Given the description of an element on the screen output the (x, y) to click on. 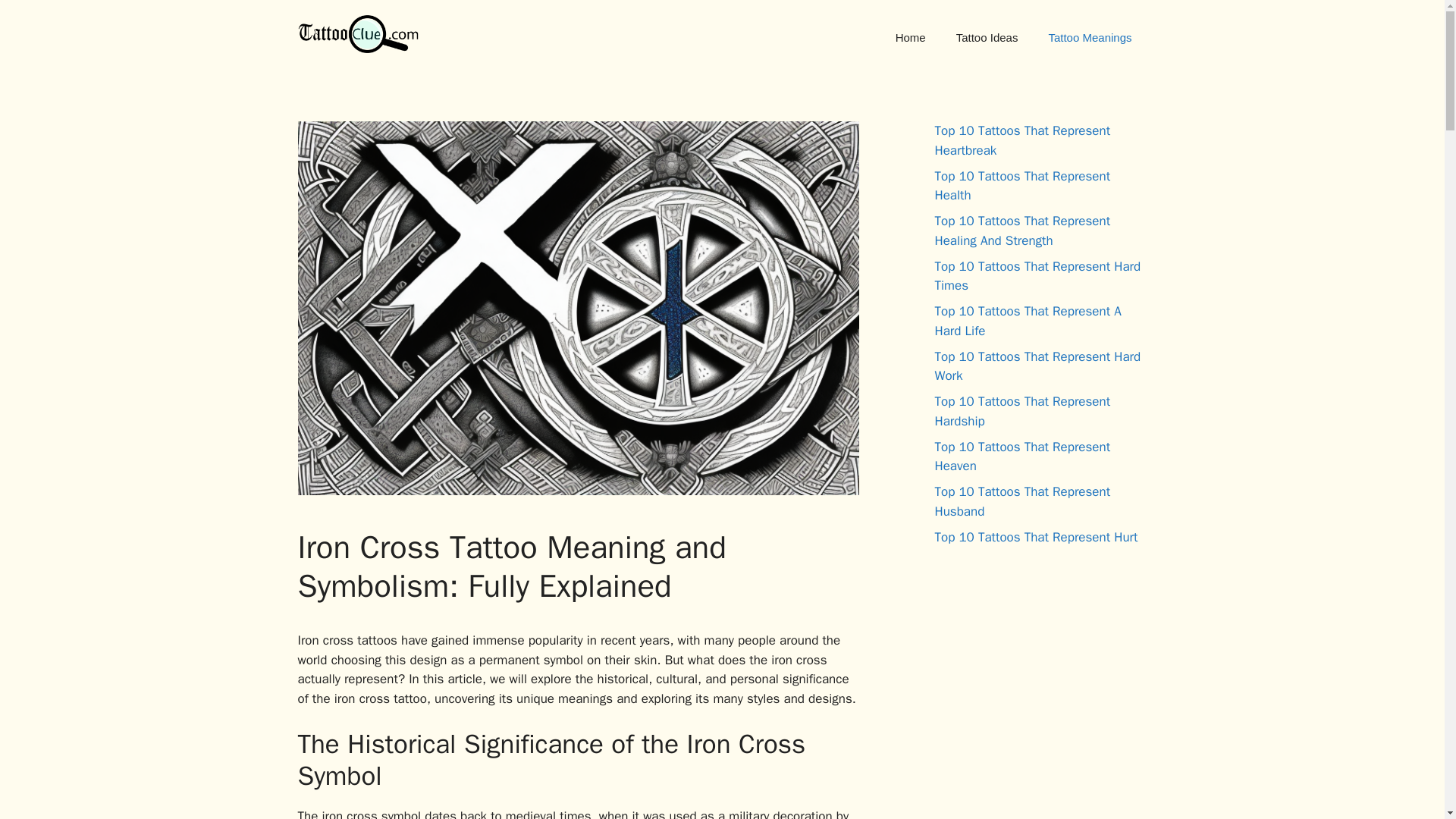
Top 10 Tattoos That Represent Heartbreak (1021, 140)
Top 10 Tattoos That Represent Health (1021, 185)
Top 10 Tattoos That Represent Healing And Strength (1021, 230)
Top 10 Tattoos That Represent Husband (1021, 501)
Top 10 Tattoos That Represent Hurt (1035, 537)
Top 10 Tattoos That Represent Hard Times (1037, 275)
Top 10 Tattoos That Represent A Hard Life (1027, 321)
Top 10 Tattoos That Represent Heaven (1021, 456)
Home (910, 37)
Tattoo Meanings (1089, 37)
Top 10 Tattoos That Represent Hardship (1021, 411)
Top 10 Tattoos That Represent Hard Work (1037, 366)
Tattoo Ideas (986, 37)
